Given the description of an element on the screen output the (x, y) to click on. 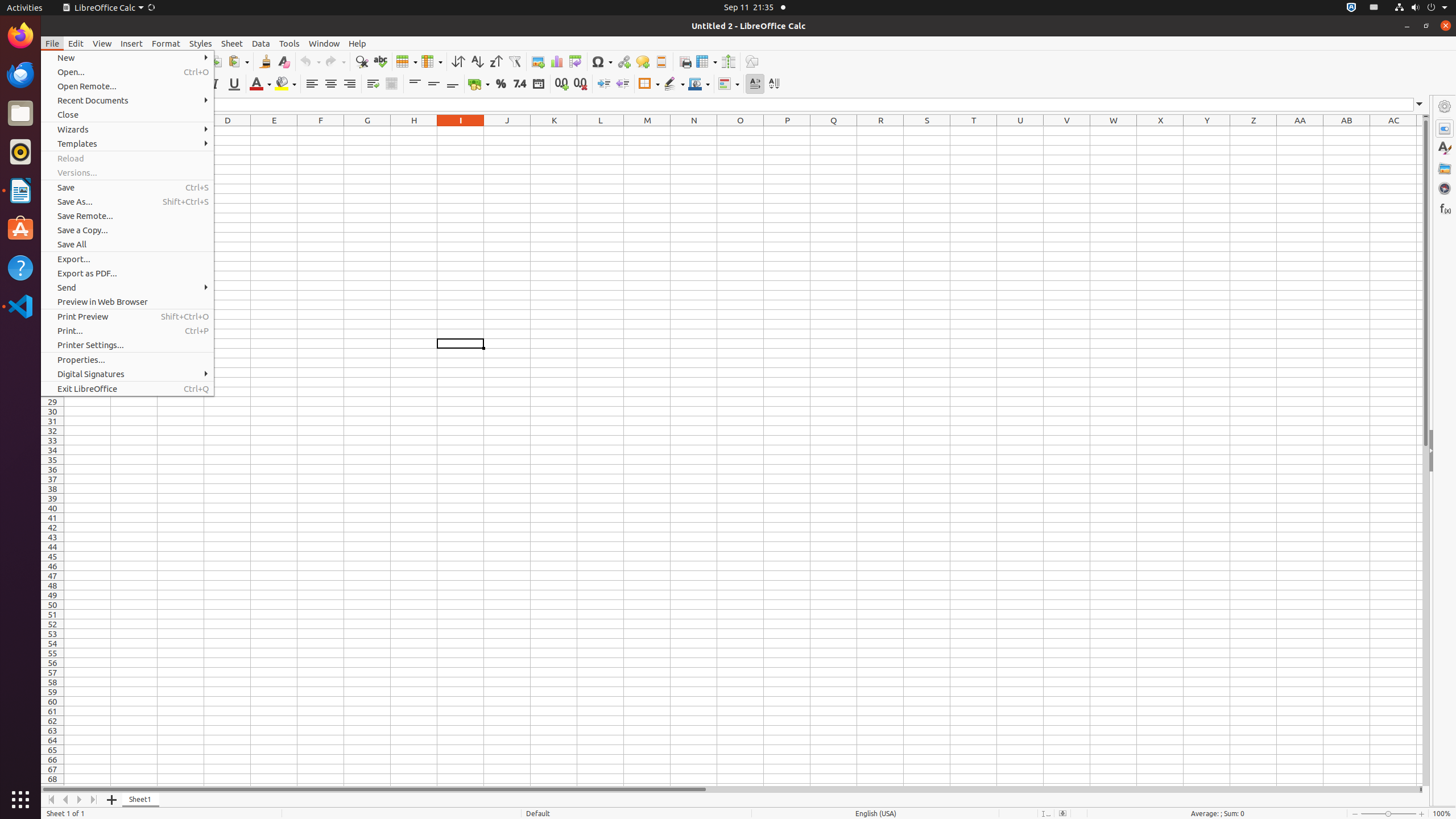
Align Left Element type: push-button (311, 83)
Save Remote... Element type: menu-item (126, 215)
Row Element type: push-button (406, 61)
Borders (Shift to overwrite) Element type: push-button (648, 83)
